Given the description of an element on the screen output the (x, y) to click on. 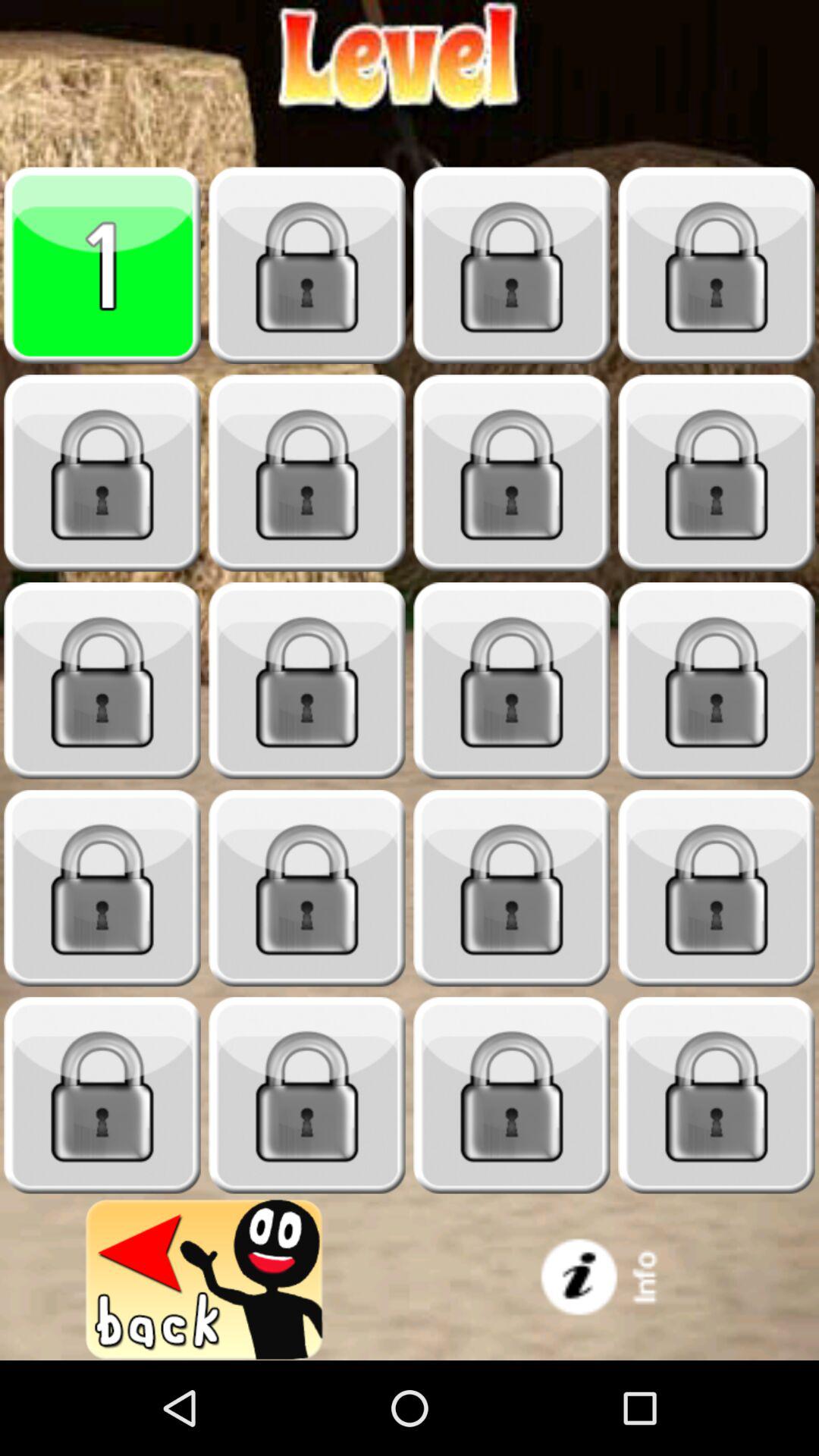
lock (511, 265)
